Given the description of an element on the screen output the (x, y) to click on. 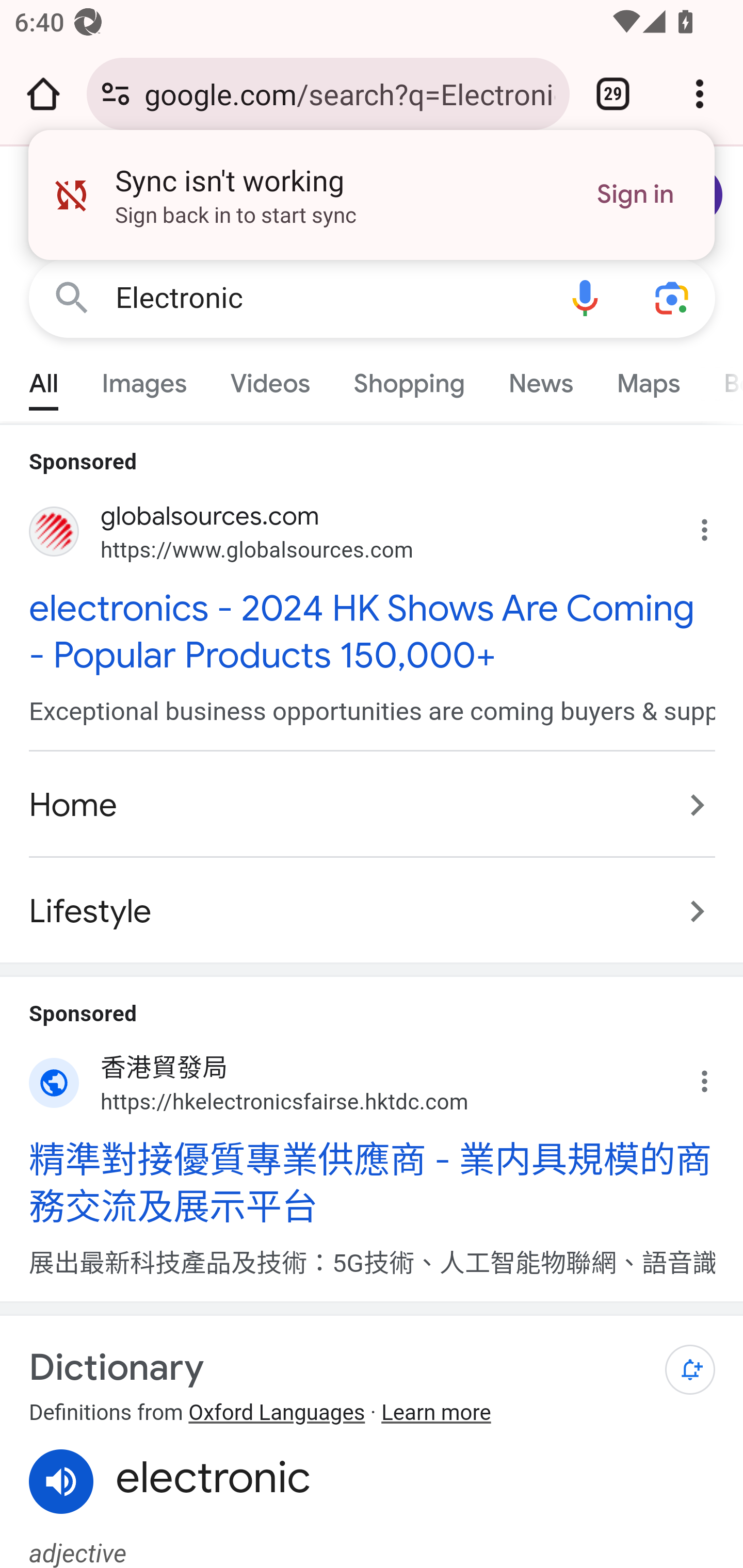
Open the home page (43, 93)
Connection is secure (115, 93)
Switch or close tabs (612, 93)
Customize and control Google Chrome (699, 93)
Google Search (71, 296)
Search using your camera or photos (672, 296)
Electronic (328, 297)
Images (144, 378)
Videos (270, 378)
Shopping (408, 378)
News (540, 378)
Maps (647, 378)
Why this ad? (714, 525)
Home (372, 805)
Lifestyle (372, 901)
Why this ad? (714, 1076)
精準對接優質專業供應商 - 業内具規模的商務交流及展示平台 (372, 1181)
Get notifications about Word of the day (690, 1369)
Oxford Languages (276, 1413)
Learn more (435, 1413)
 Listen  (61, 1481)
